Given the description of an element on the screen output the (x, y) to click on. 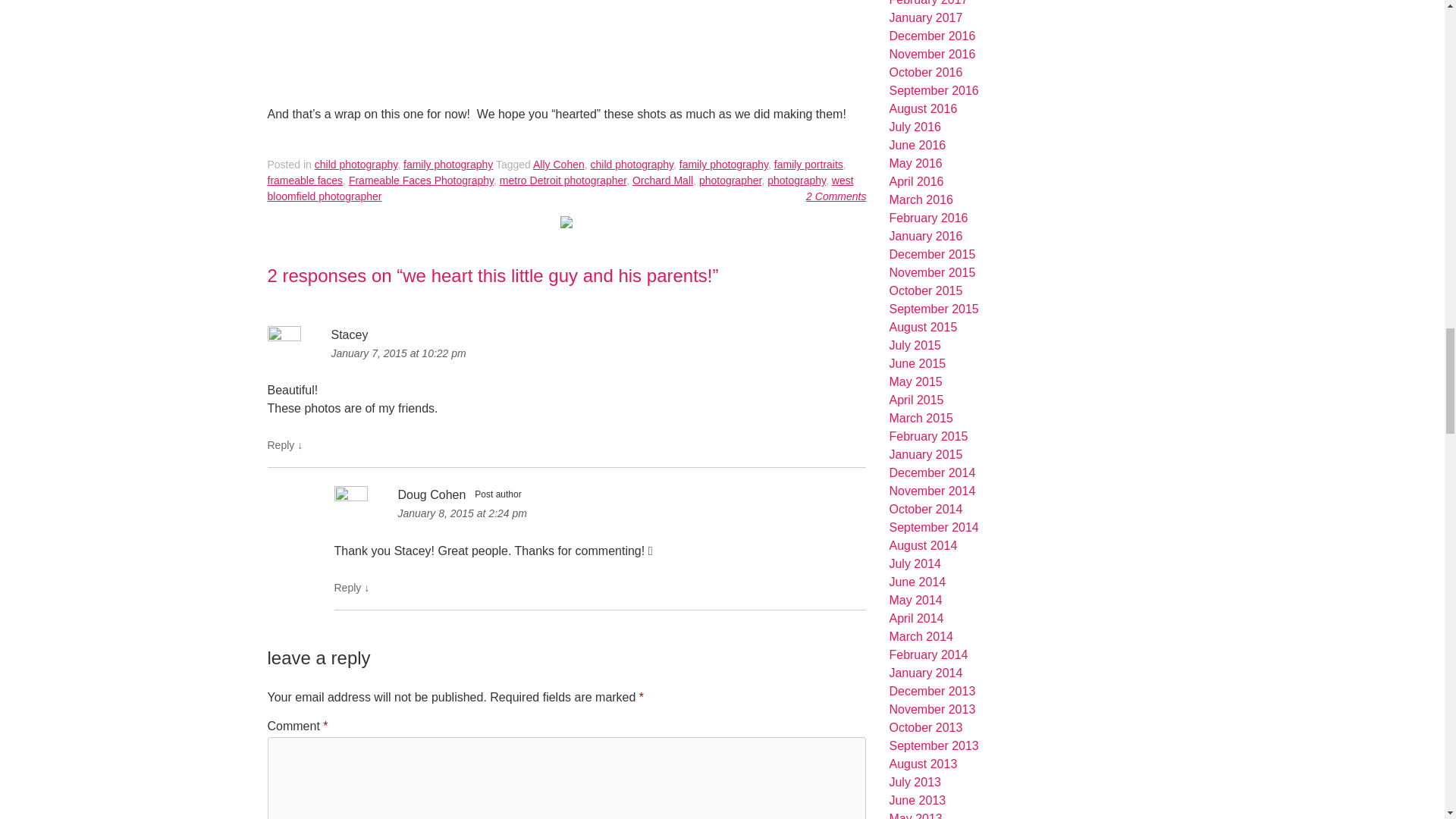
family photography (448, 164)
Ally Cohen (558, 164)
child photography (355, 164)
